Given the description of an element on the screen output the (x, y) to click on. 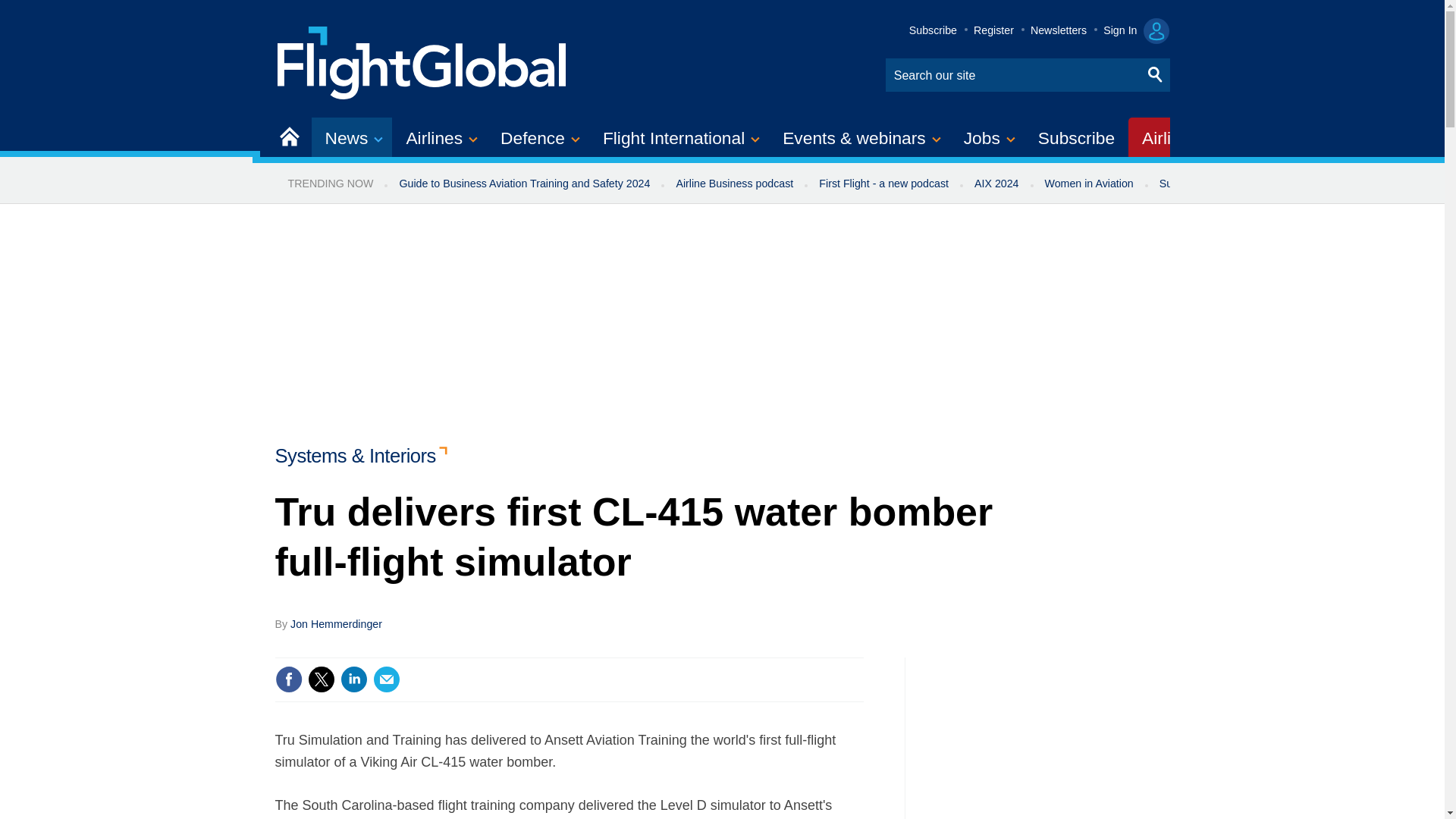
First Flight - a new podcast (883, 183)
Airline Business podcast (734, 183)
Guide to Business Aviation Training and Safety 2024 (523, 183)
Email this article (386, 678)
Sustainable Aviation newsletter (1234, 183)
Share this on Twitter (320, 678)
AIX 2024 (996, 183)
Site name (422, 60)
Women in Aviation (1089, 183)
Share this on Facebook (288, 678)
